Given the description of an element on the screen output the (x, y) to click on. 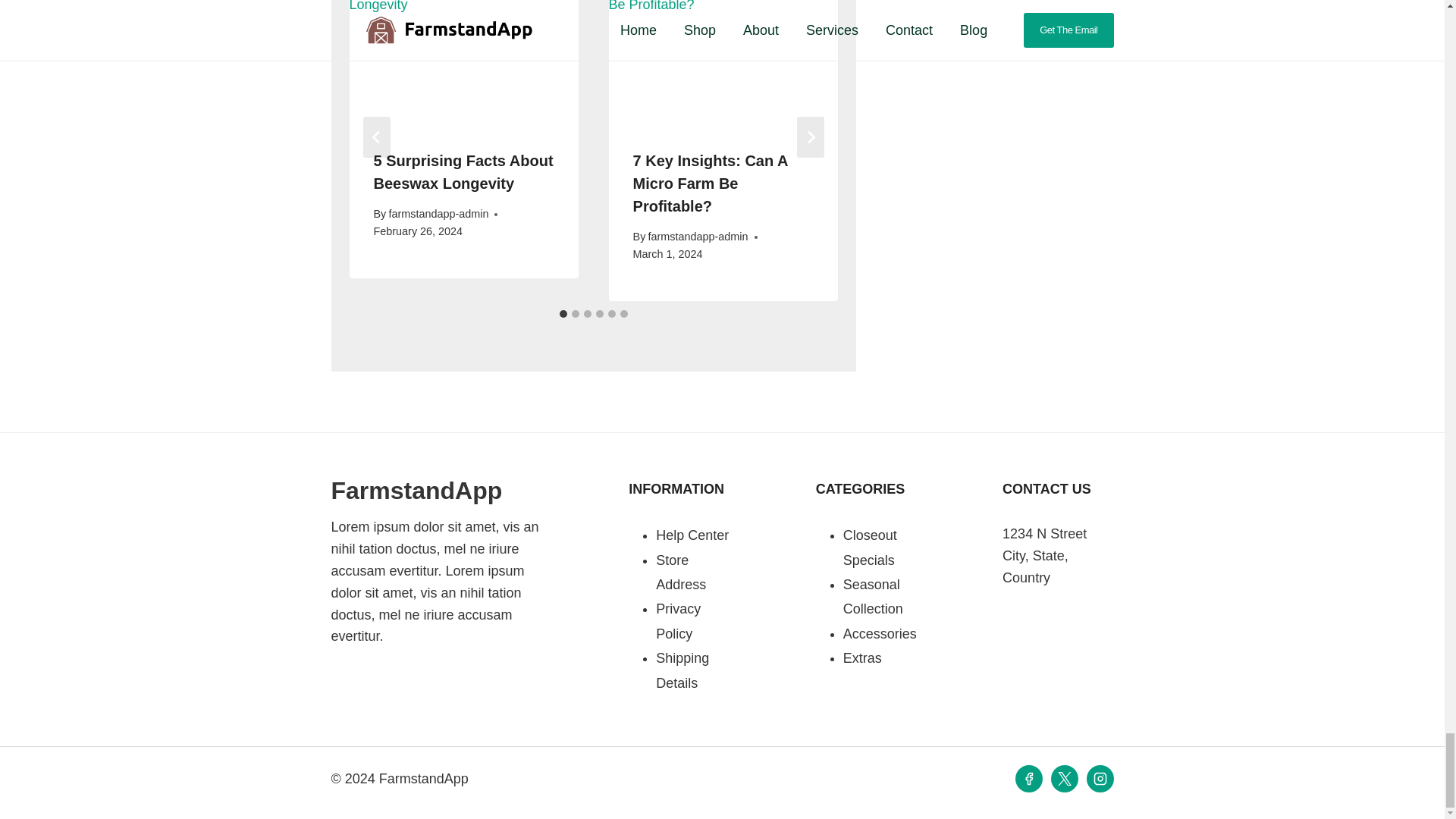
5 Surprising Facts About Beeswax Longevity (462, 171)
farmstandapp-admin (437, 214)
5 Surprising Facts About Beeswax Longevity 9 (463, 62)
7 Key Insights: Can a Micro Farm Be Profitable? 10 (723, 62)
